Given the description of an element on the screen output the (x, y) to click on. 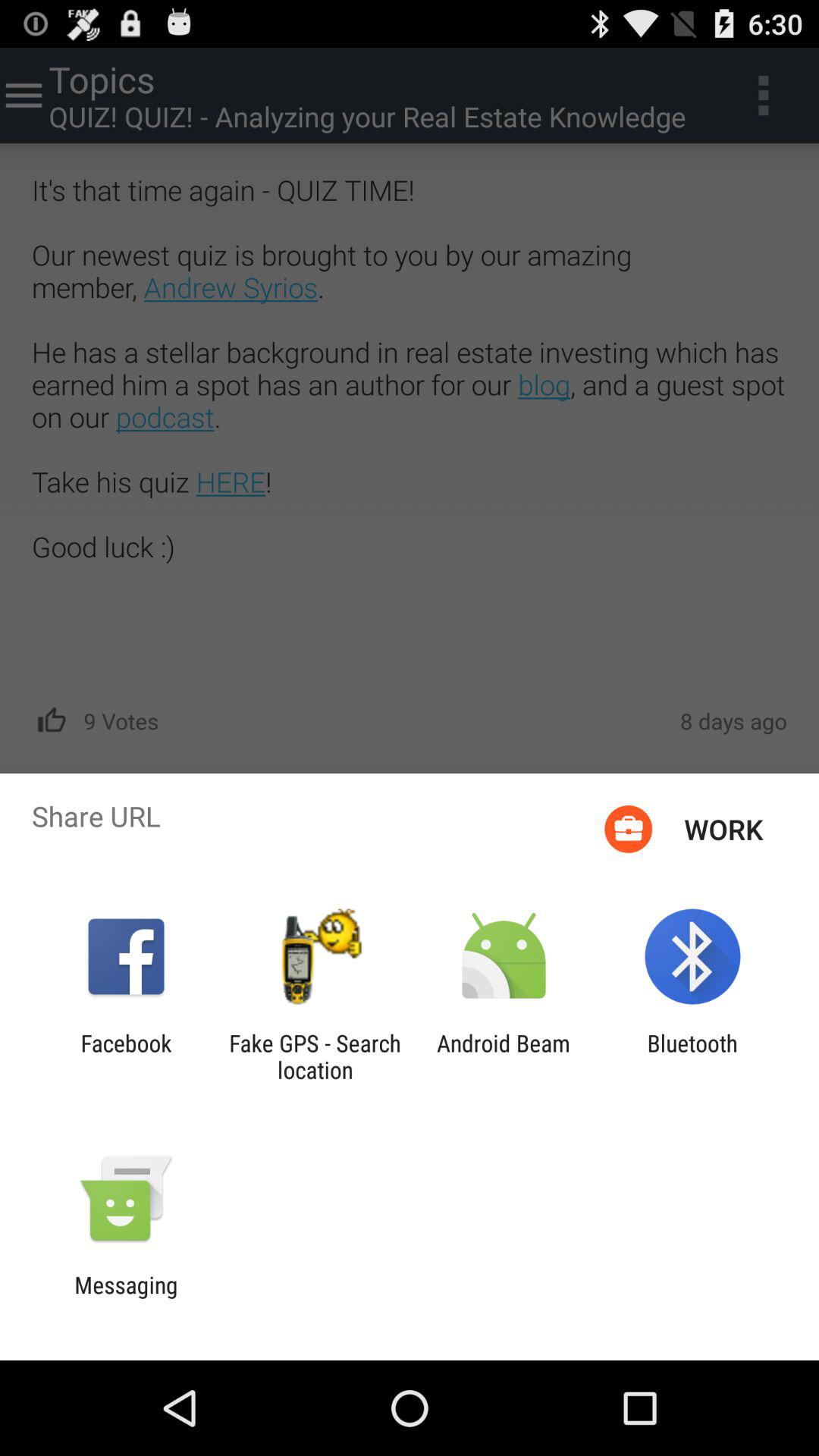
choose facebook (125, 1056)
